Given the description of an element on the screen output the (x, y) to click on. 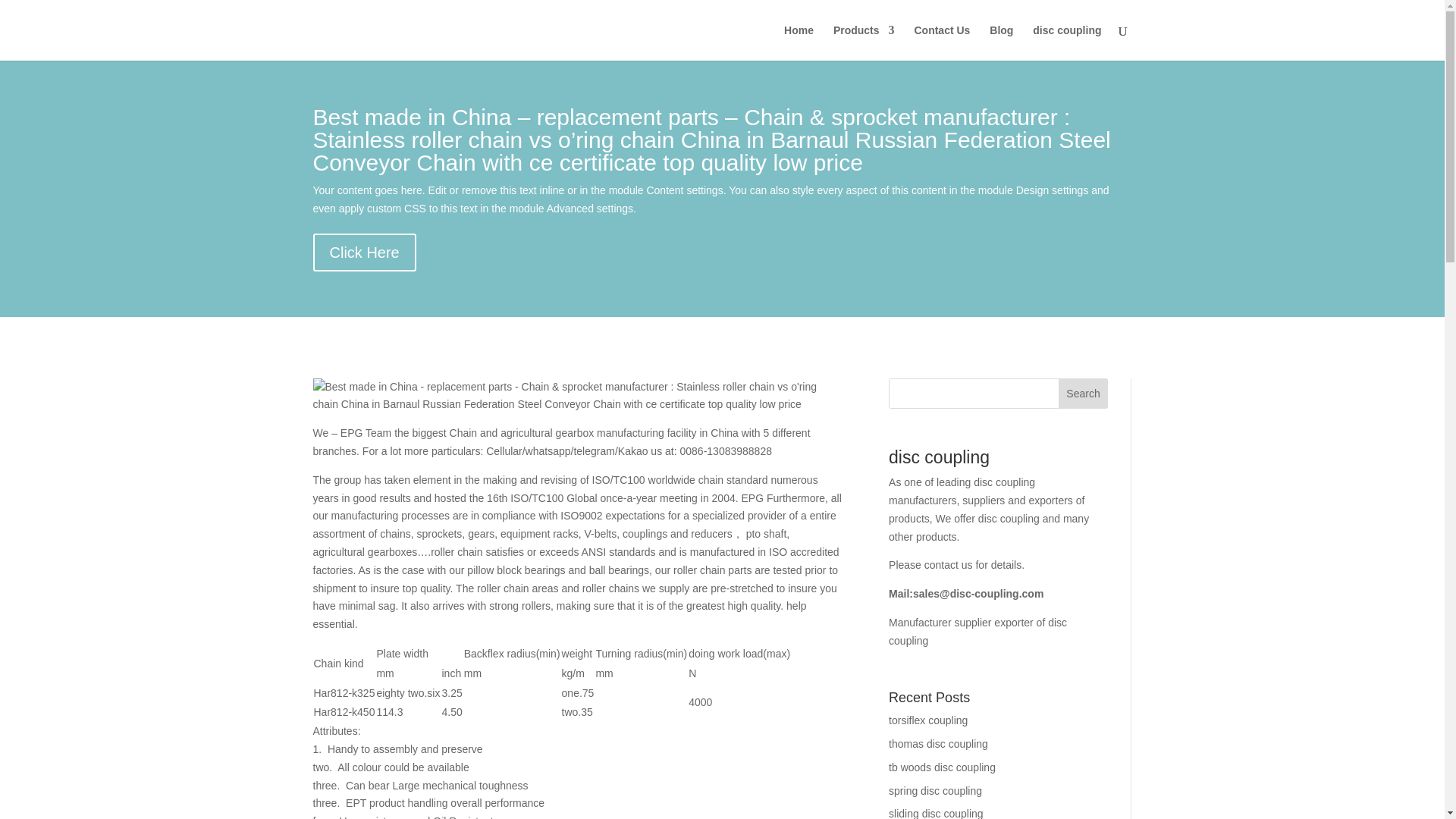
Click Here (363, 252)
Search (1083, 393)
Contact Us (941, 42)
disc coupling (1066, 42)
Products (863, 42)
